Given the description of an element on the screen output the (x, y) to click on. 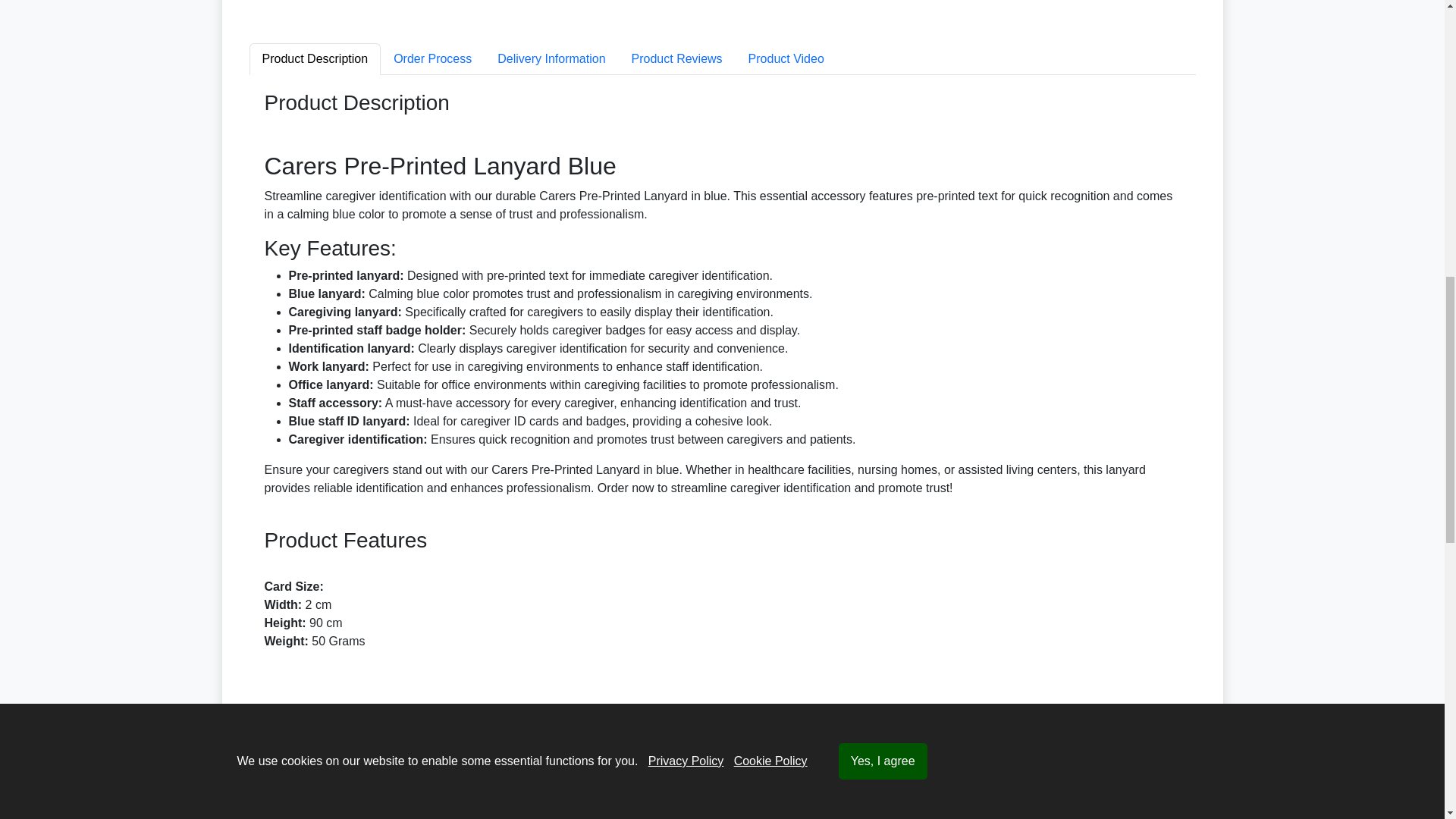
Product Description (314, 59)
